Given the description of an element on the screen output the (x, y) to click on. 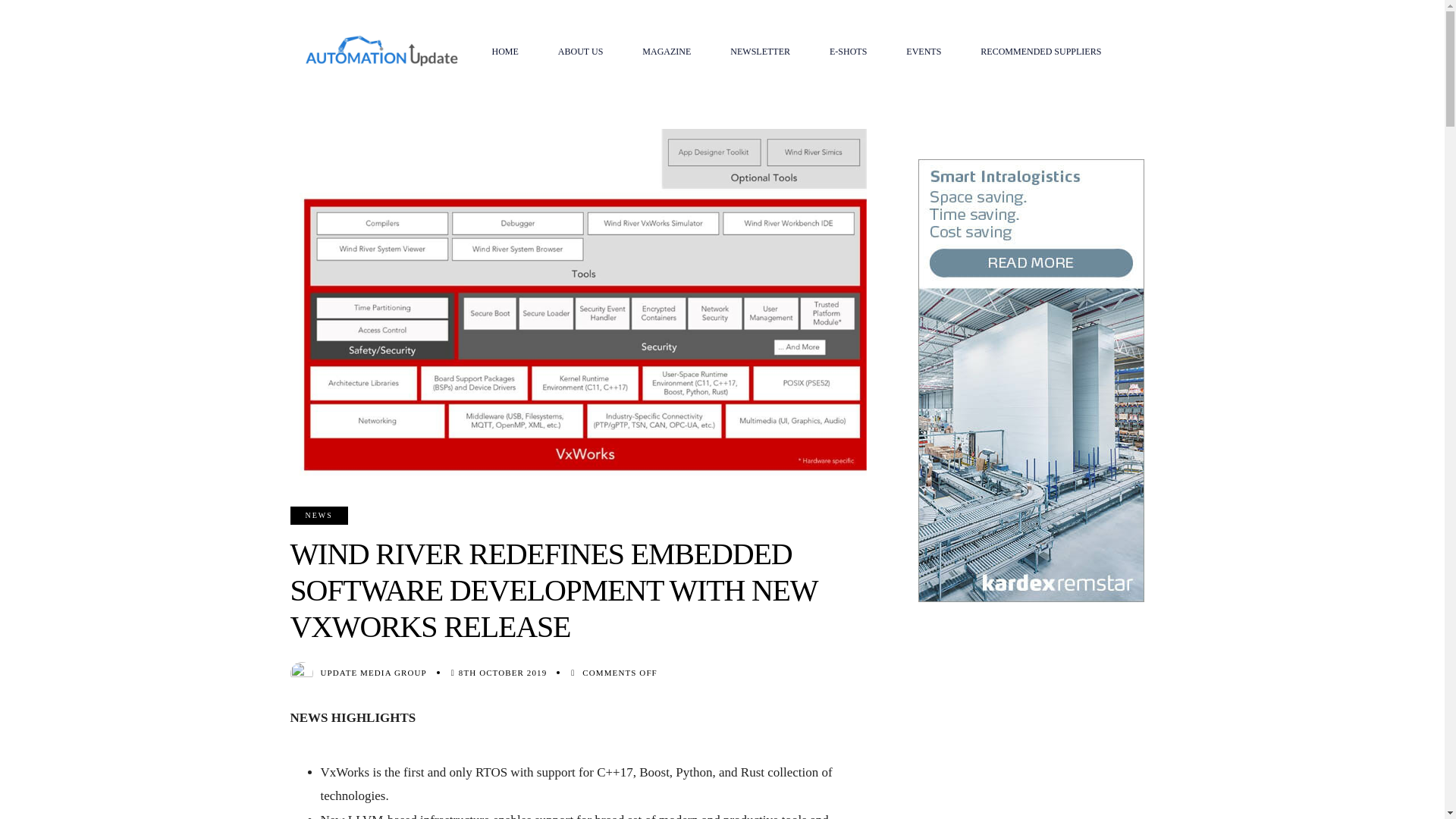
E-SHOTS (847, 51)
MAGAZINE (666, 51)
NEWS (318, 515)
HOME (504, 51)
NEWSLETTER (759, 51)
Automation Update (381, 51)
EVENTS (923, 51)
Posts by Update Media Group (373, 672)
RECOMMENDED SUPPLIERS (1040, 51)
ABOUT US (580, 51)
